Given the description of an element on the screen output the (x, y) to click on. 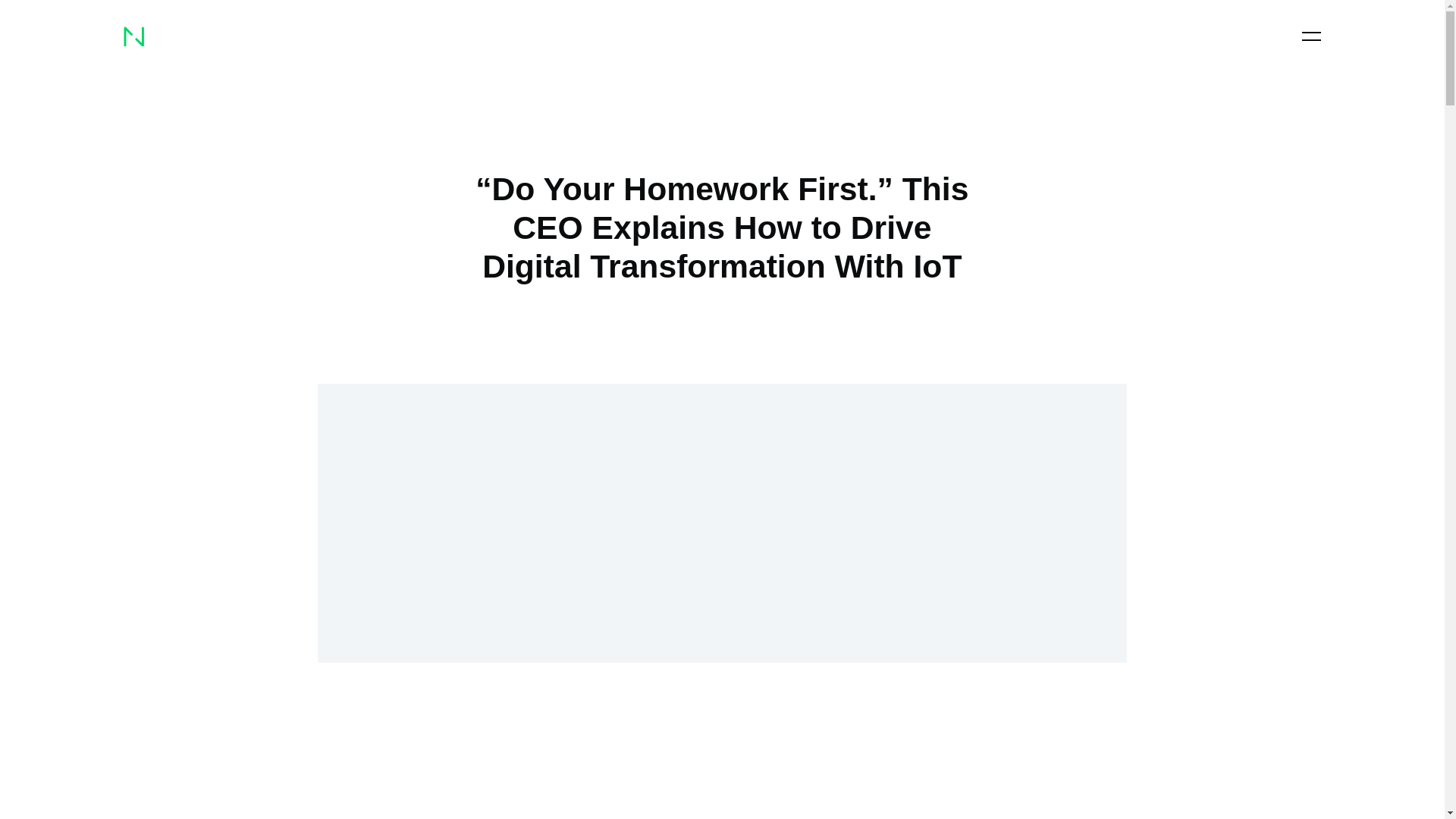
Toggle menu (1310, 36)
